Given the description of an element on the screen output the (x, y) to click on. 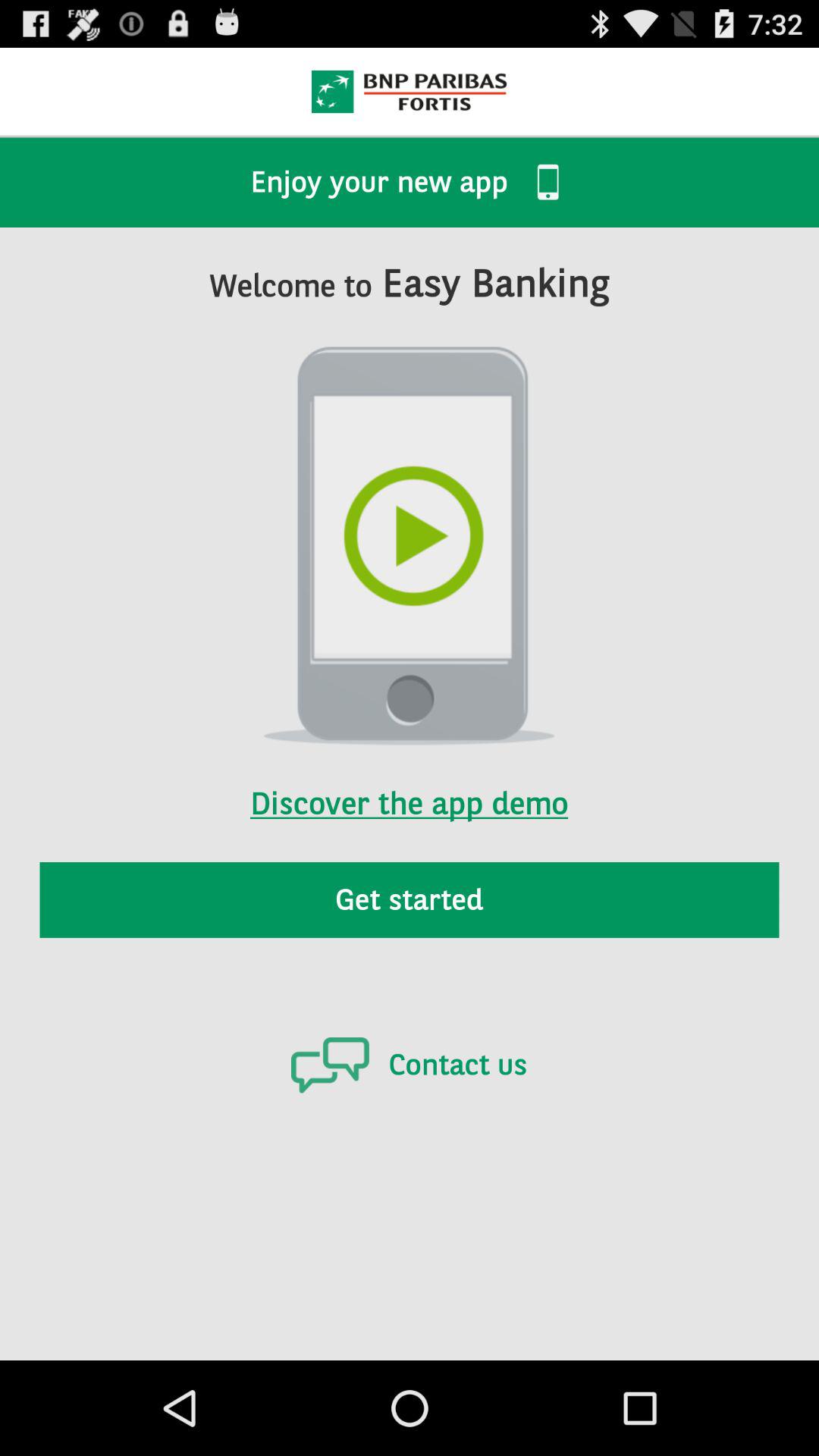
launch get started item (409, 899)
